Given the description of an element on the screen output the (x, y) to click on. 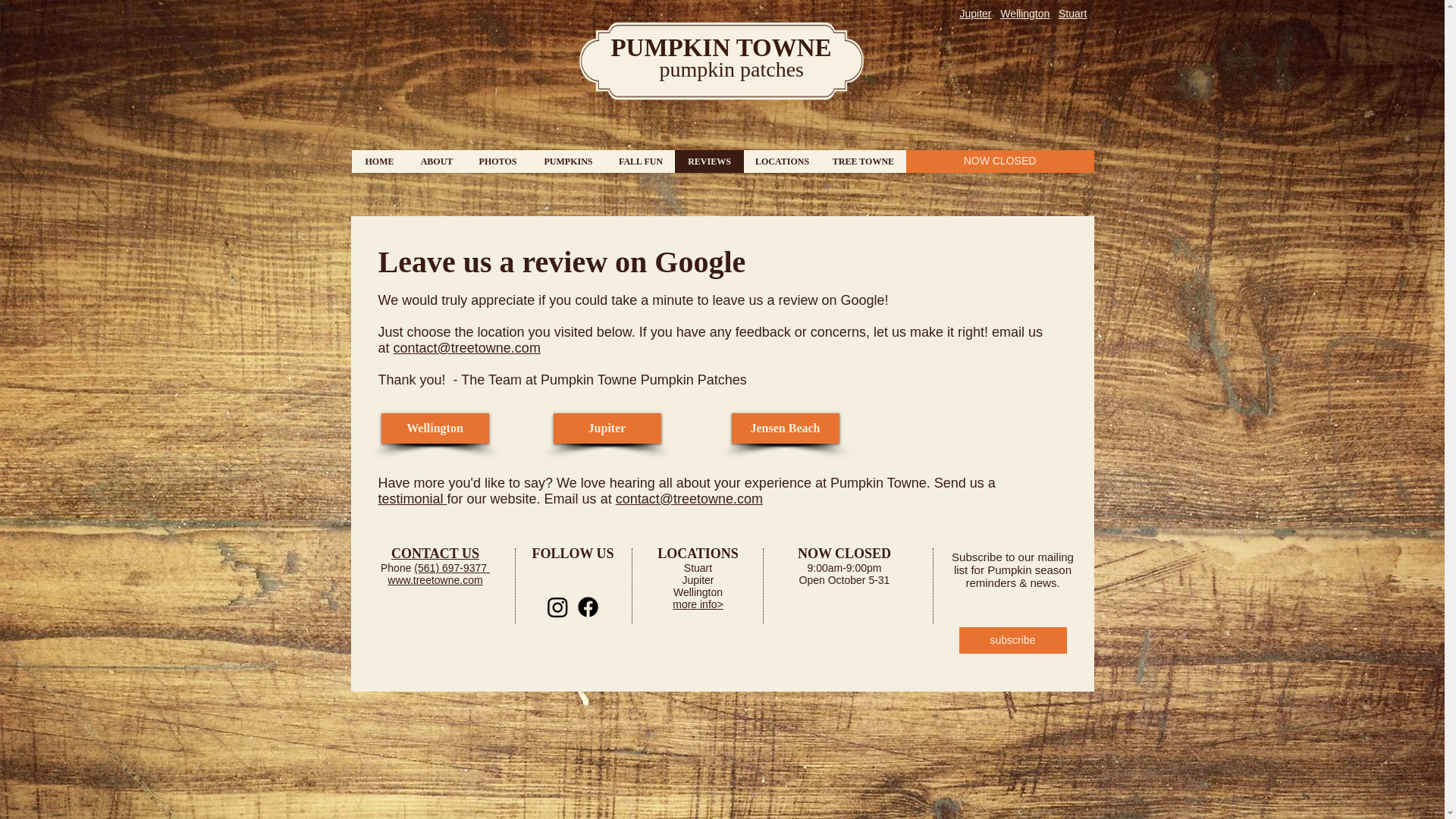
Jensen Beach (784, 428)
Wellington (1024, 13)
Jupiter (607, 428)
FALL FUN (641, 160)
HOME (379, 160)
TREE TOWNE (863, 160)
ABOUT (436, 160)
Stuart (1072, 13)
REVIEWS (709, 160)
NOW CLOSED (999, 160)
